Given the description of an element on the screen output the (x, y) to click on. 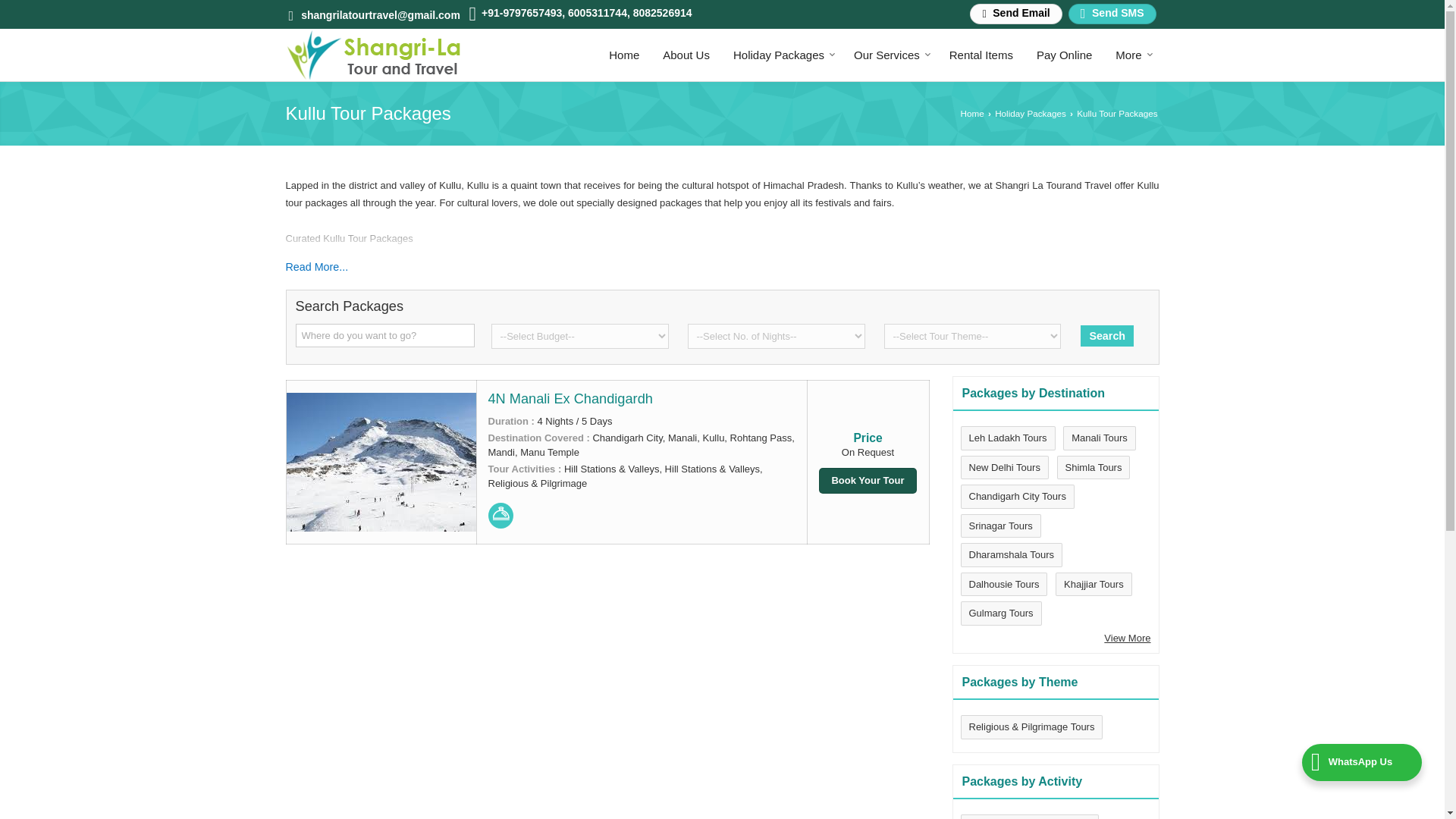
Shangrila Tour and Travel (372, 54)
Home (623, 55)
Send Email (1015, 14)
Holiday Packages (781, 55)
About Us (685, 55)
Search (1107, 335)
Our Services (890, 55)
About Us (685, 55)
Send SMS (1112, 14)
Holiday Packages (781, 55)
Home (623, 55)
